Given the description of an element on the screen output the (x, y) to click on. 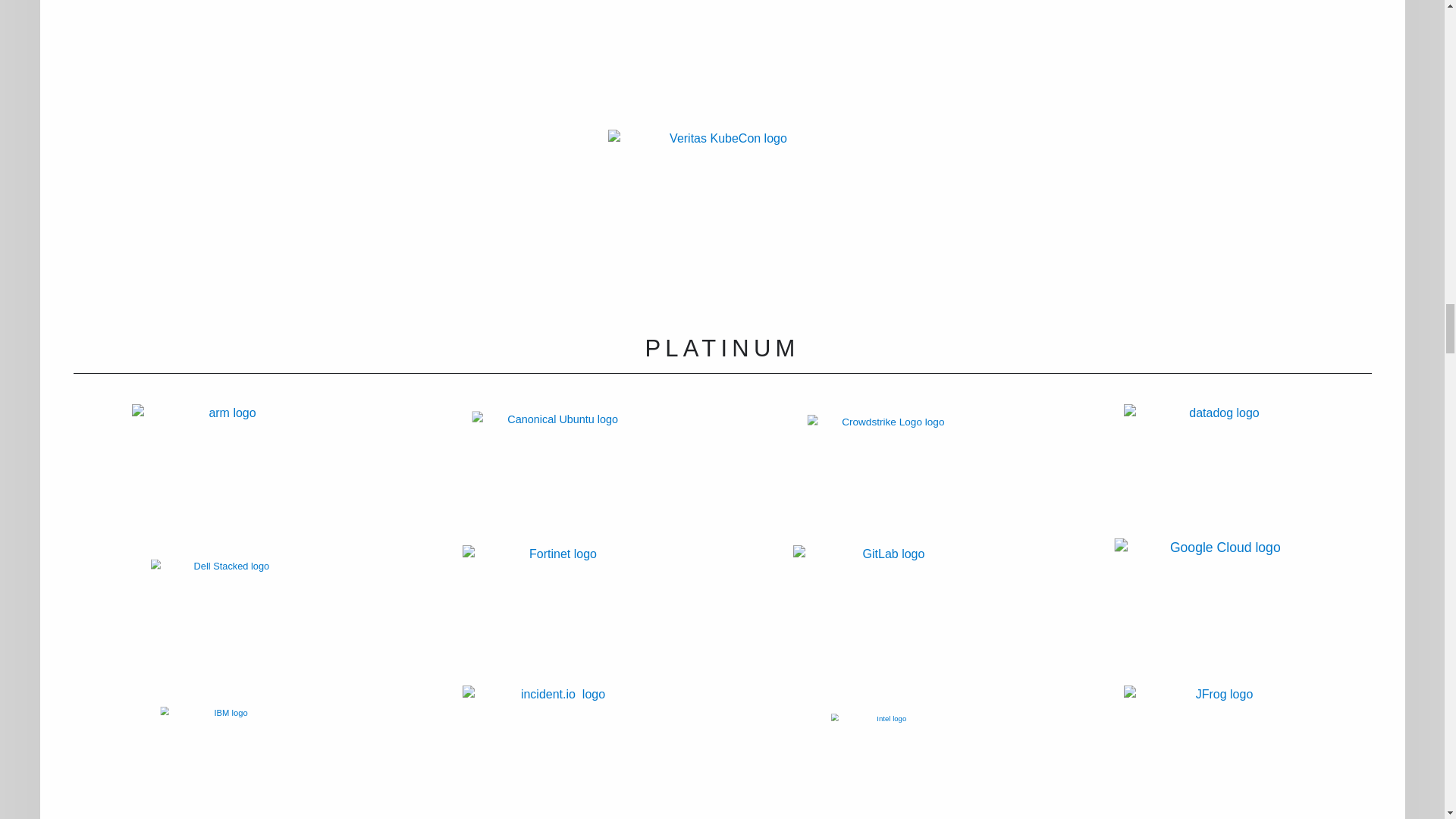
Go to JFrog (1218, 752)
Go to GitLab (887, 615)
Go to datadog (1218, 474)
Go to IBM (271, 762)
Go to rancher by suse (724, 65)
Go to Canonical Ubuntu (572, 481)
Go to Intel (948, 766)
Go to Oracle Logo (323, 72)
Go to Google Cloud (1202, 607)
Go to Crowdstrike Logo (910, 485)
Go to arm (226, 474)
Go to Dell Stacked (256, 629)
Go to Fortinet (557, 615)
Go to Red Hat (1162, 64)
